Given the description of an element on the screen output the (x, y) to click on. 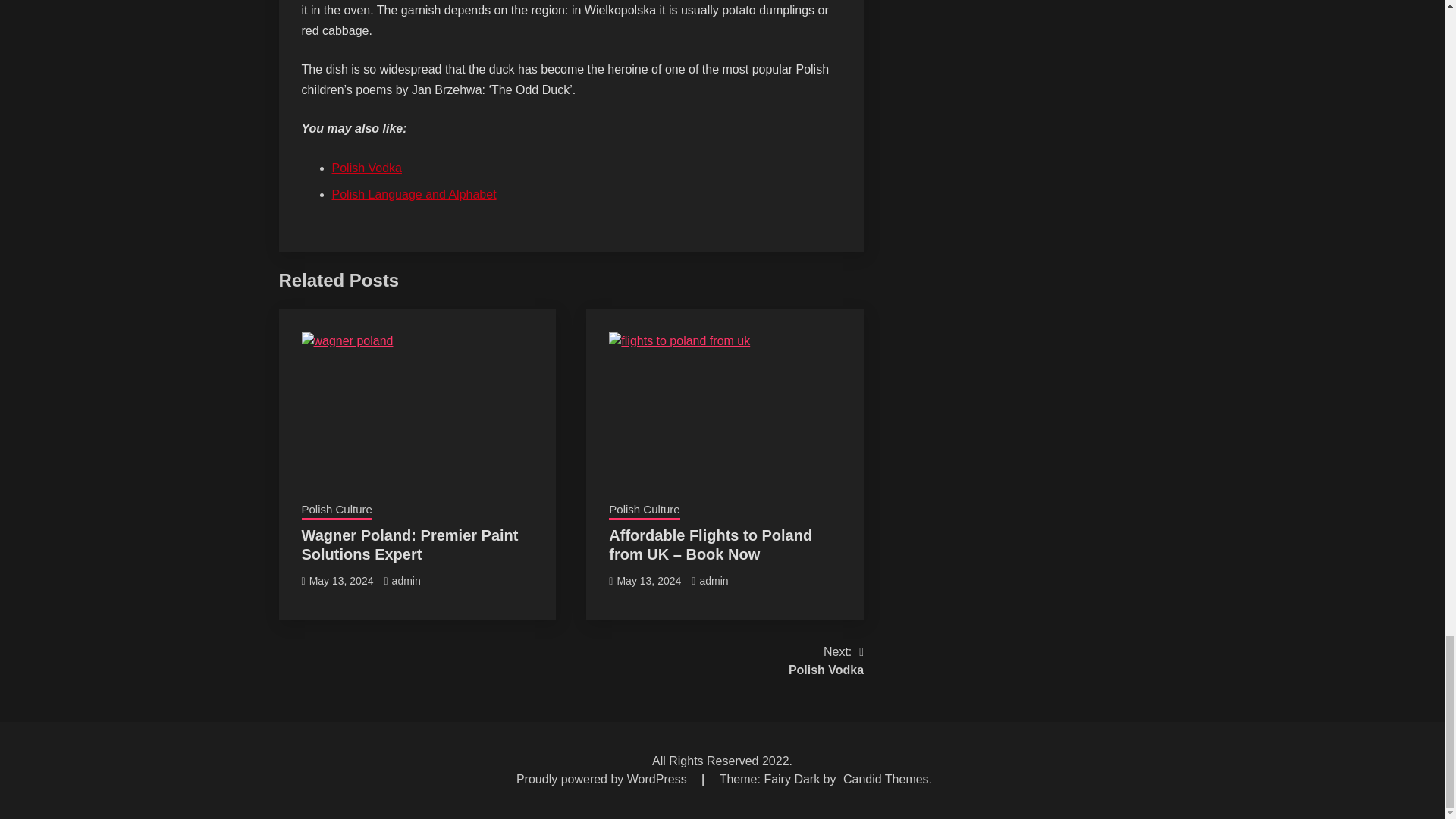
admin (713, 580)
Polish Language and Alphabet (413, 194)
May 13, 2024 (341, 580)
Polish Culture (643, 510)
Proudly powered by WordPress (603, 779)
Wagner Poland: Premier Paint Solutions Expert (409, 544)
May 13, 2024 (648, 580)
Polish Culture (826, 660)
admin (336, 510)
